Given the description of an element on the screen output the (x, y) to click on. 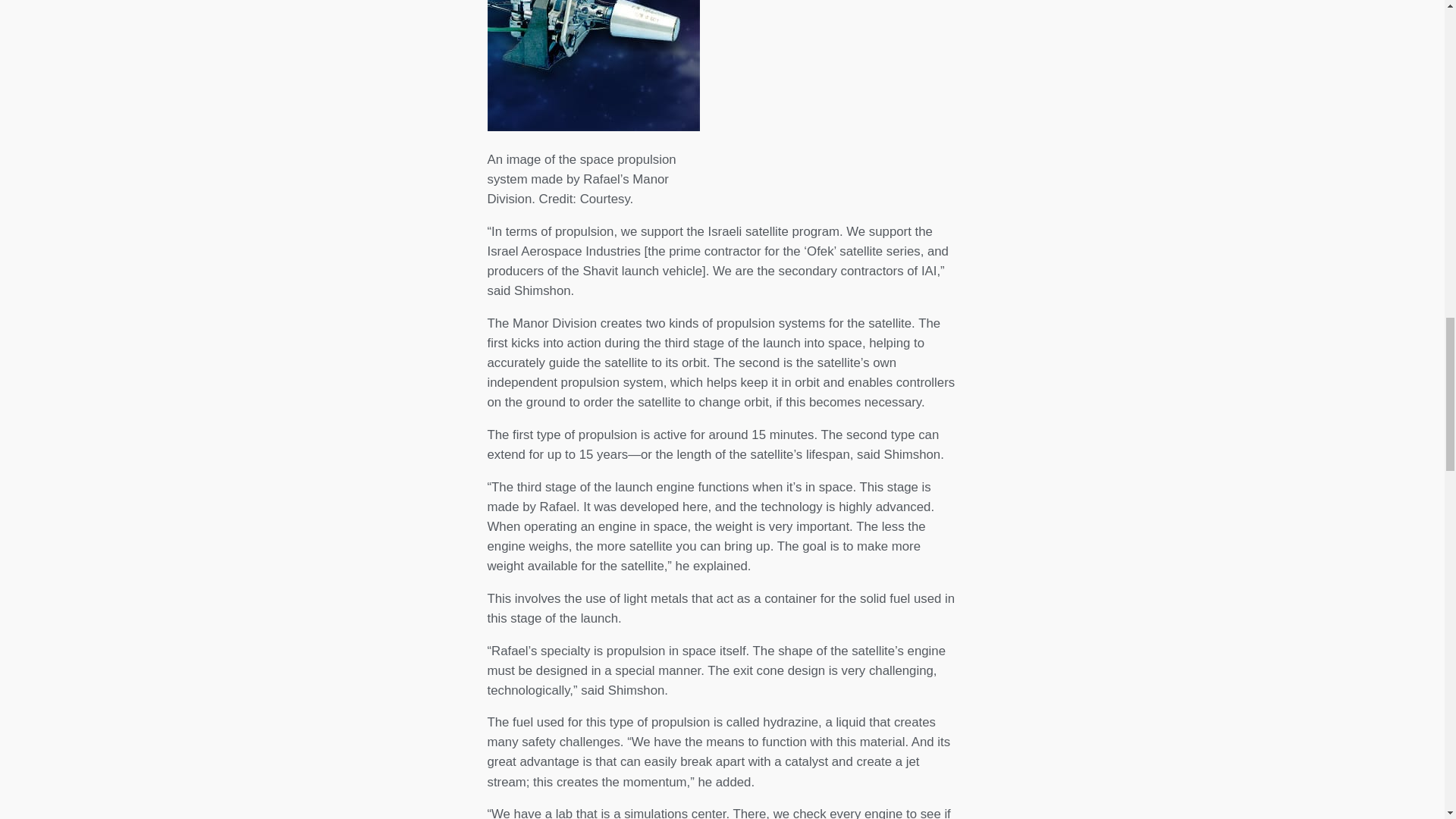
 - BeitEmet - House of Truth (592, 65)
